Given the description of an element on the screen output the (x, y) to click on. 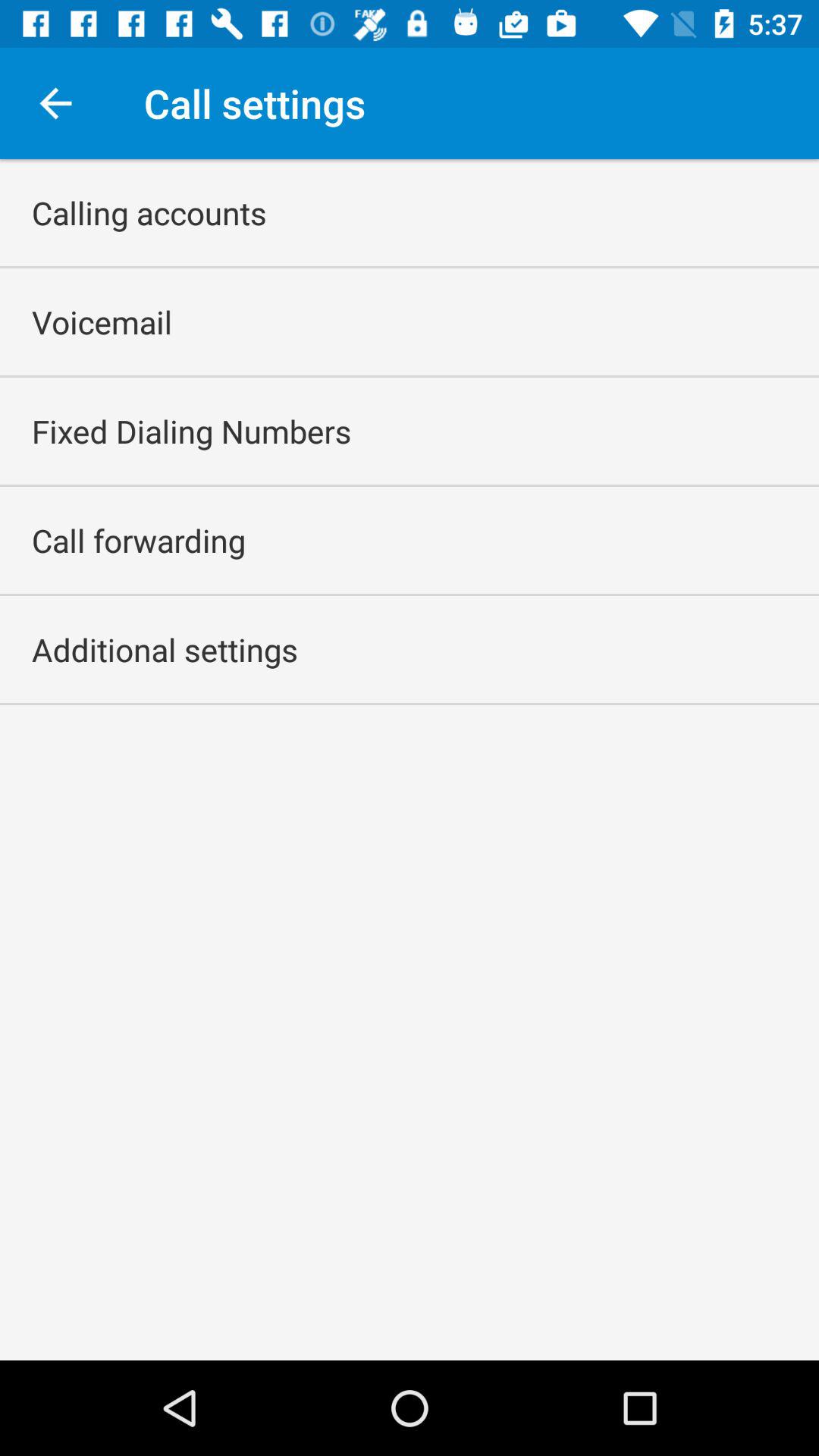
turn on the icon above the additional settings icon (138, 539)
